Given the description of an element on the screen output the (x, y) to click on. 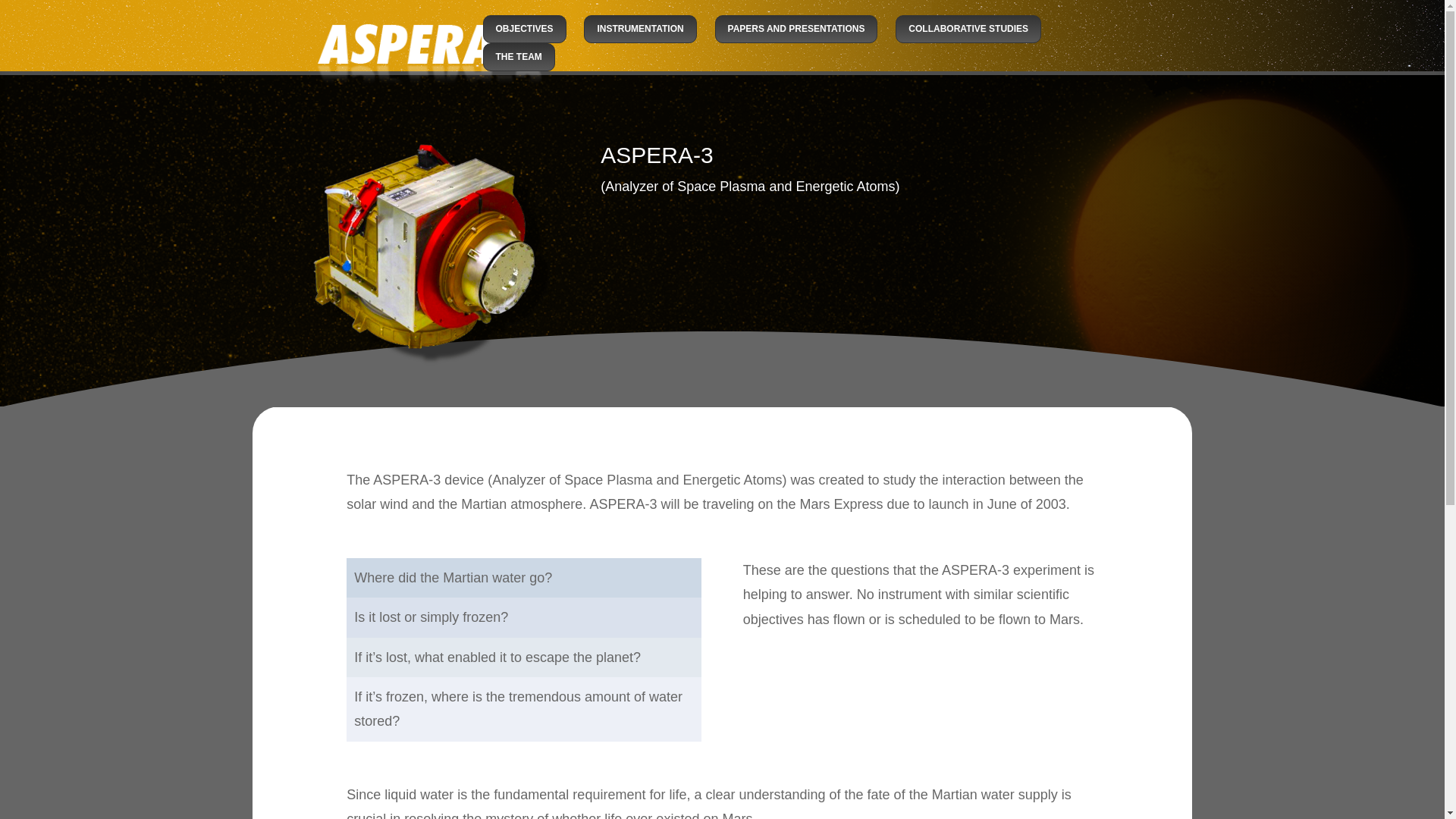
COLLABORATIVE STUDIES (968, 29)
PAPERS AND PRESENTATIONS (795, 29)
THE TEAM (517, 57)
INSTRUMENTATION (639, 29)
OBJECTIVES (523, 29)
